Given the description of an element on the screen output the (x, y) to click on. 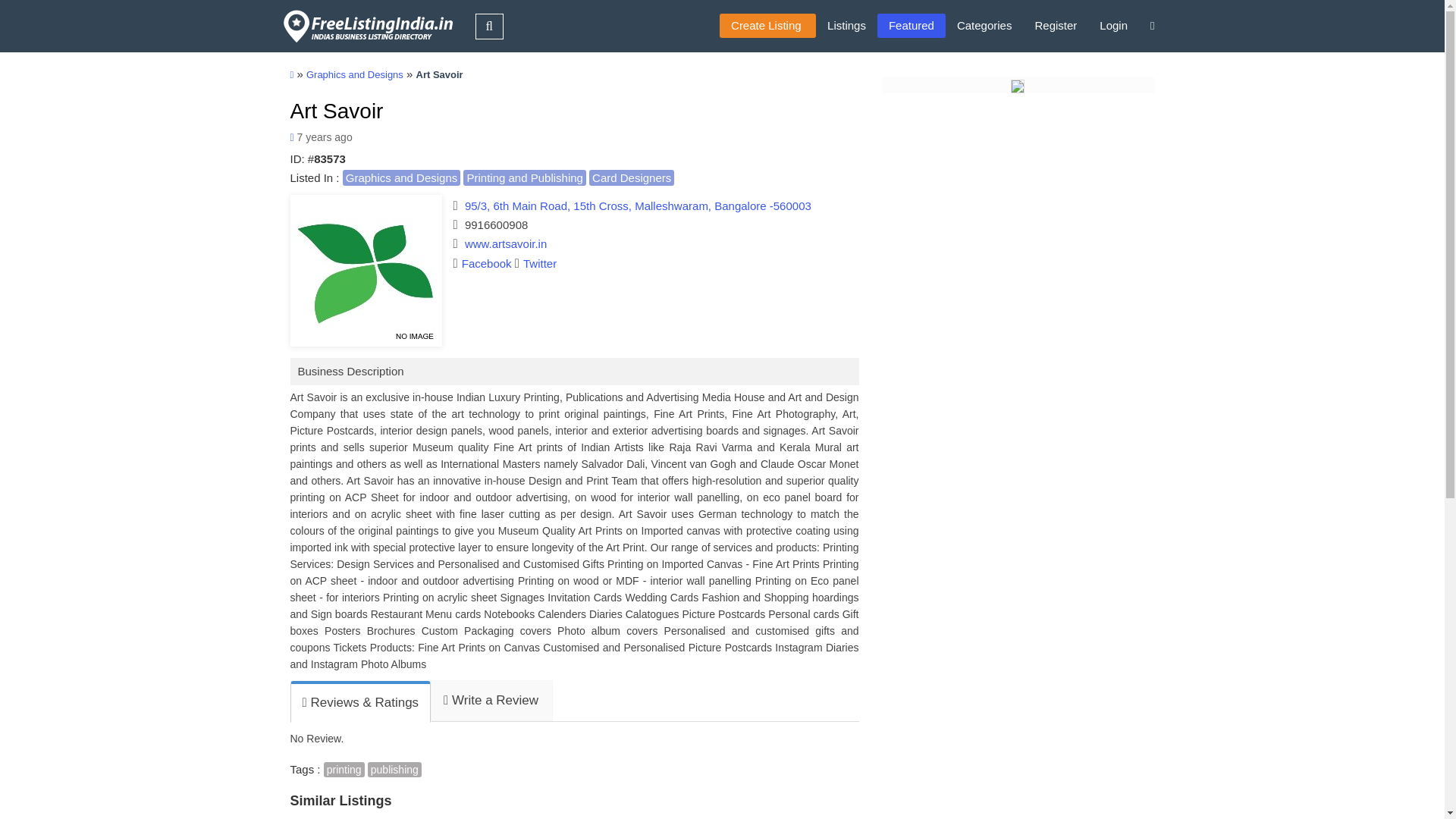
Printing and Publishing (524, 177)
List your business for free (767, 25)
Write a Review (490, 700)
Listings (846, 25)
Graphics and Designs (354, 74)
9916600908 (495, 224)
FreeListingIndia logo (369, 25)
Graphics and Designs (401, 177)
Art Savoir (335, 110)
Twitter (535, 263)
